Given the description of an element on the screen output the (x, y) to click on. 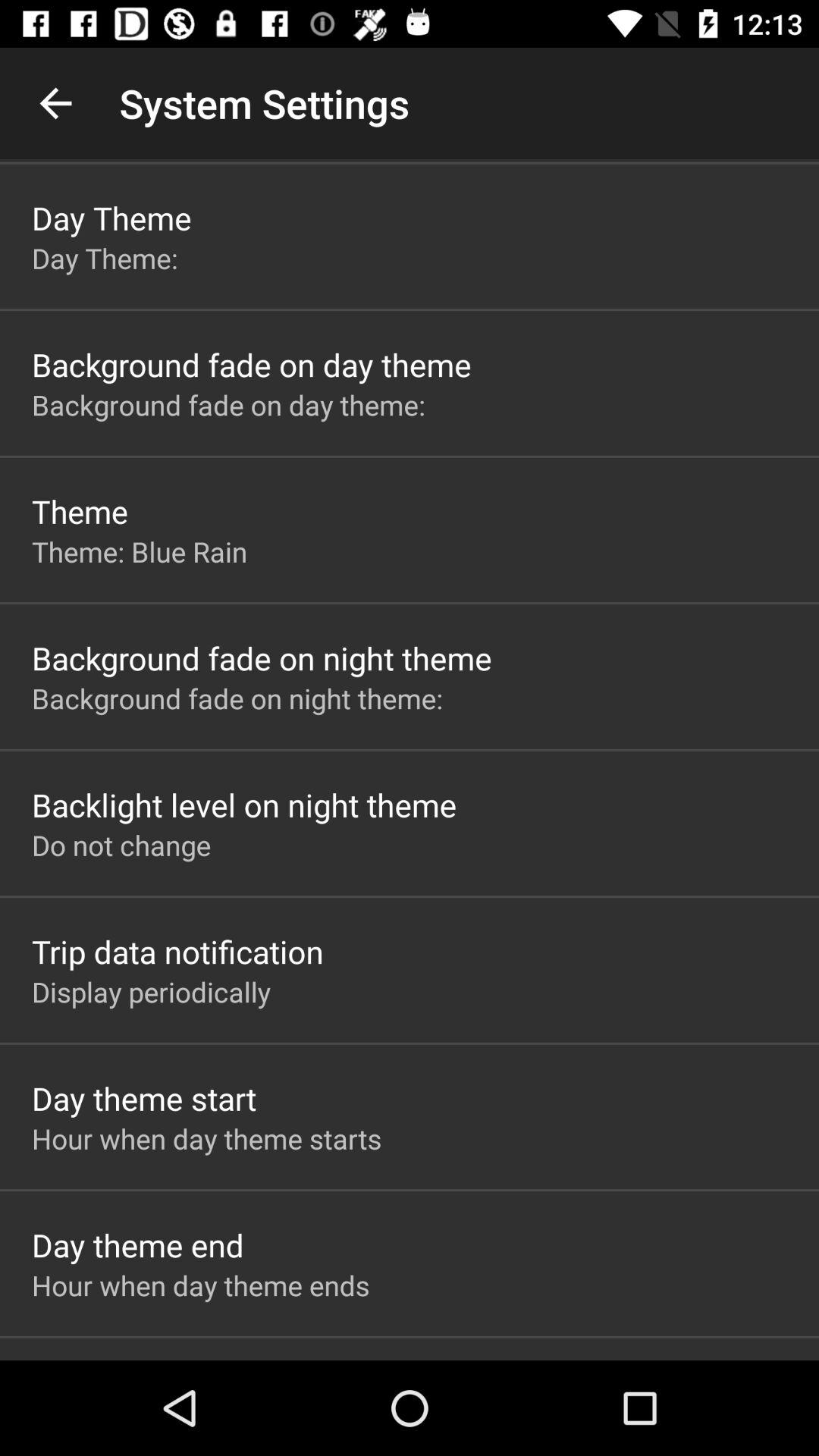
turn on the item next to system settings icon (55, 103)
